Given the description of an element on the screen output the (x, y) to click on. 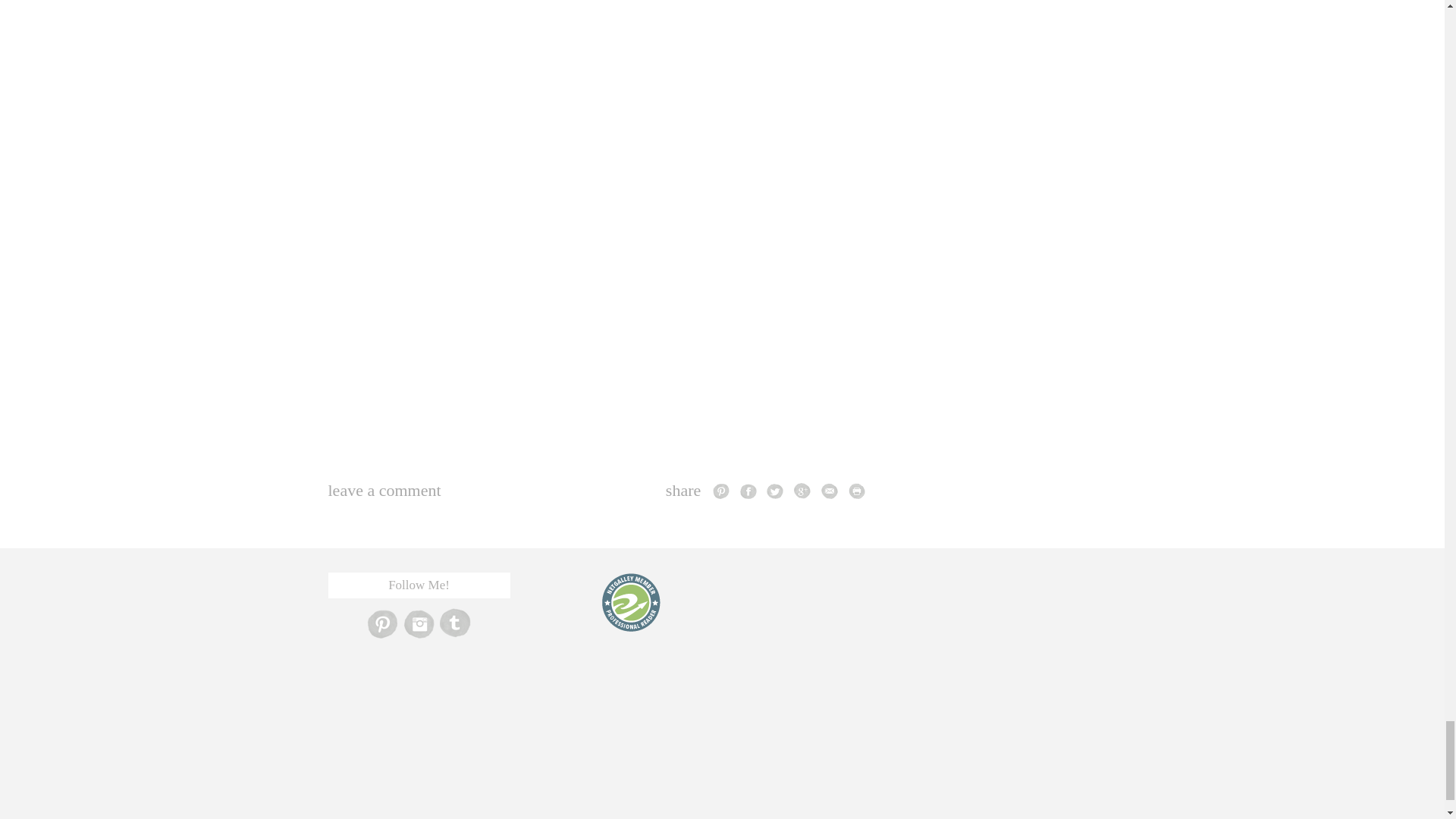
leave a comment (384, 489)
Share by Email (829, 490)
Professional Reader (630, 602)
